Given the description of an element on the screen output the (x, y) to click on. 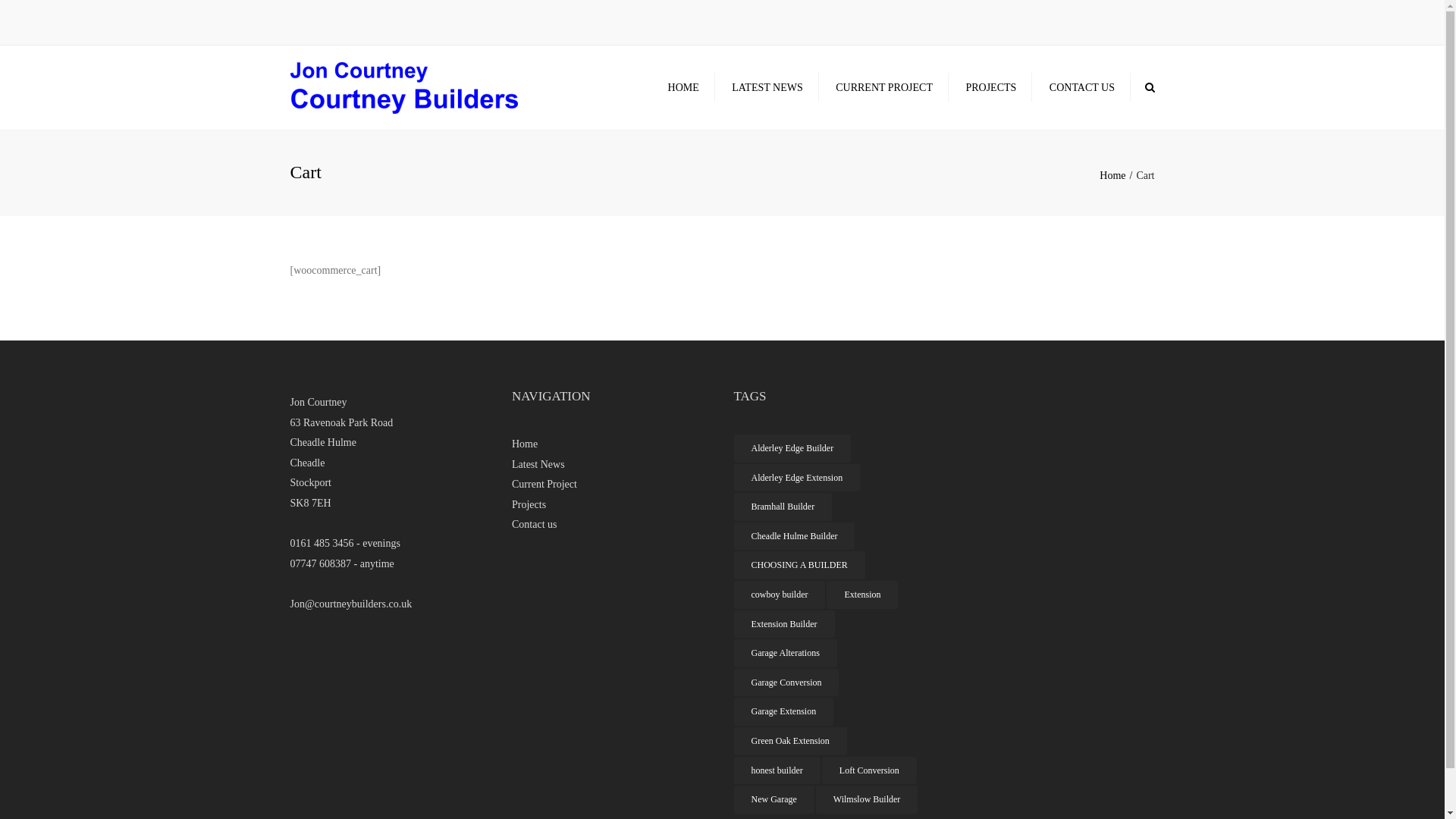
cowboy builder Element type: text (779, 594)
Cheadle Hulme Builder Element type: text (794, 536)
CURRENT PROJECT Element type: text (884, 87)
Garage Alterations Element type: text (785, 653)
CONTACT US Element type: text (1081, 87)
honest builder Element type: text (777, 770)
PROJECTS Element type: text (990, 87)
CHOOSING A BUILDER Element type: text (799, 565)
Latest News Element type: text (611, 465)
Garage Extension Element type: text (784, 711)
Contact us Element type: text (611, 524)
Wilmslow Builder Element type: text (866, 799)
HOME Element type: text (683, 87)
Extension Element type: text (861, 594)
Garage Conversion Element type: text (786, 682)
Extension Builder Element type: text (784, 624)
LATEST NEWS Element type: text (766, 87)
Projects Element type: text (611, 505)
Home Element type: text (1117, 175)
Current Project Element type: text (611, 484)
Alderley Edge Extension Element type: text (797, 478)
Loft Conversion Element type: text (869, 770)
Search Element type: text (1149, 86)
New Garage Element type: text (774, 799)
Alderley Edge Builder Element type: text (792, 448)
Green Oak Extension Element type: text (790, 741)
Bramhall Builder Element type: text (783, 506)
Home Element type: text (611, 444)
